Given the description of an element on the screen output the (x, y) to click on. 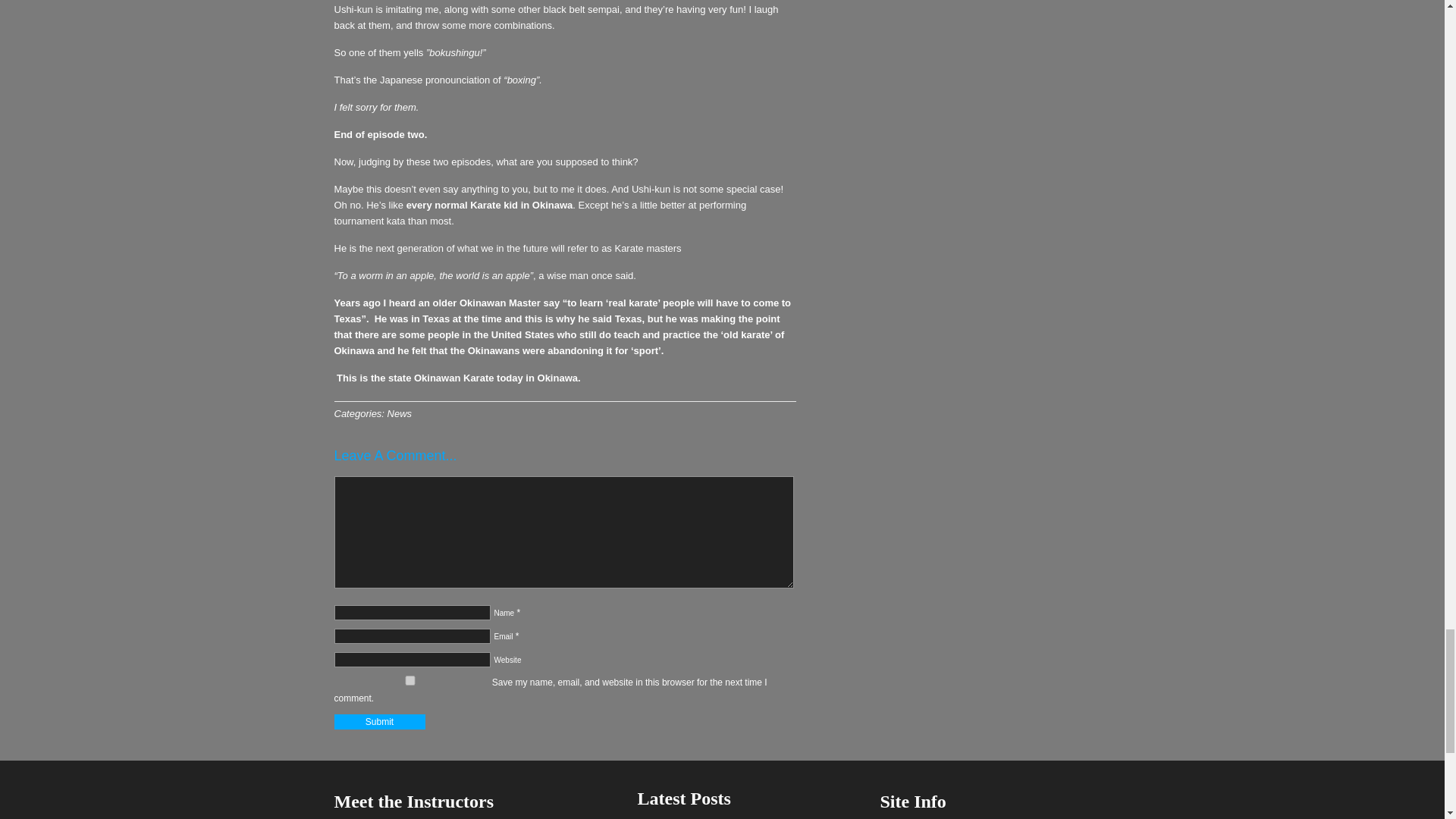
News (399, 413)
Submit (379, 721)
yes (408, 680)
Submit (379, 721)
